Given the description of an element on the screen output the (x, y) to click on. 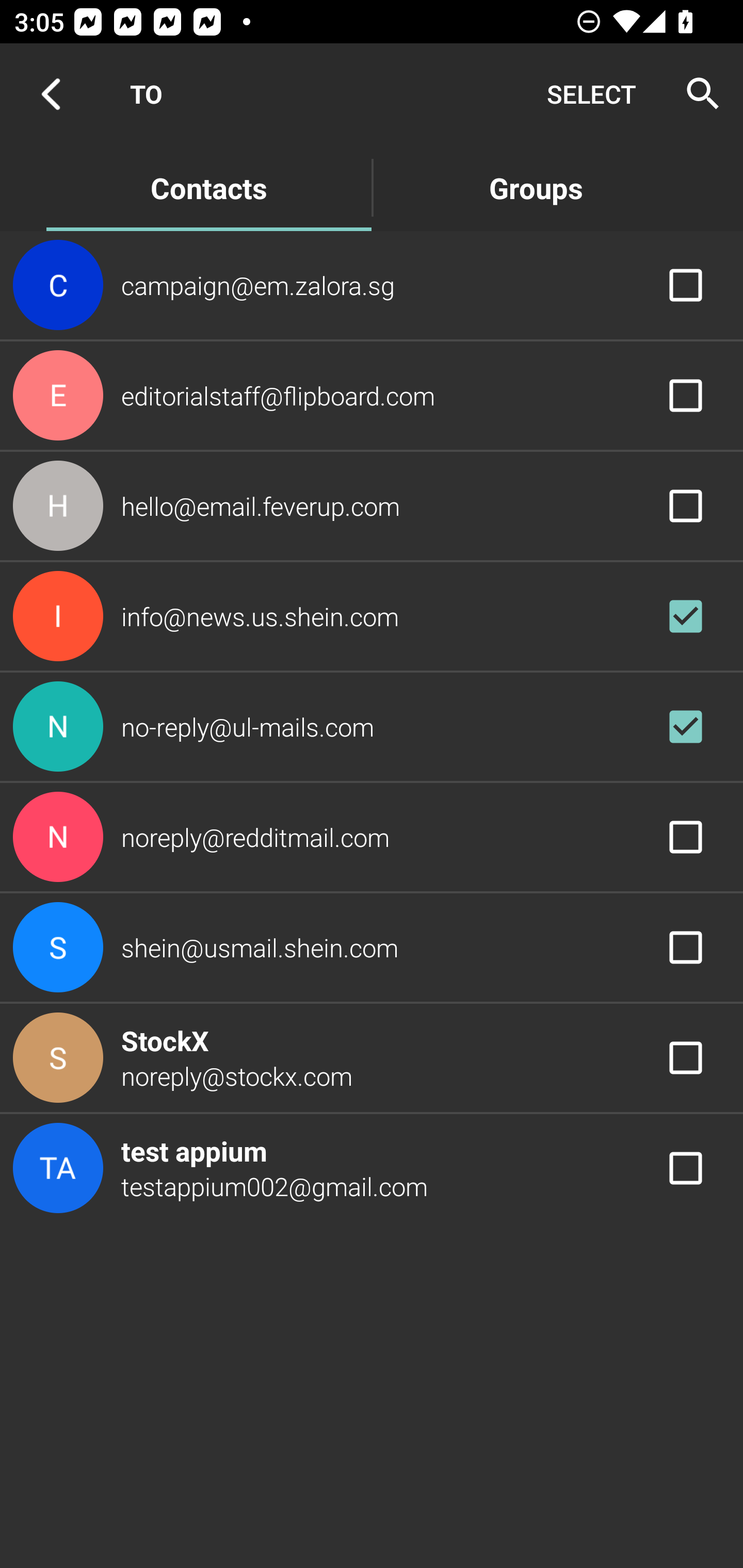
Navigate up (50, 93)
SELECT (590, 93)
Search (696, 93)
Contacts (208, 187)
Groups (535, 187)
campaign@em.zalora.sg (371, 284)
editorialstaff@flipboard.com (371, 395)
hello@email.feverup.com (371, 505)
info@news.us.shein.com (371, 616)
no-reply@ul-mails.com (371, 726)
noreply@redditmail.com (371, 836)
shein@usmail.shein.com (371, 947)
StockX noreply@stockx.com (371, 1057)
test appium testappium002@gmail.com (371, 1168)
